Given the description of an element on the screen output the (x, y) to click on. 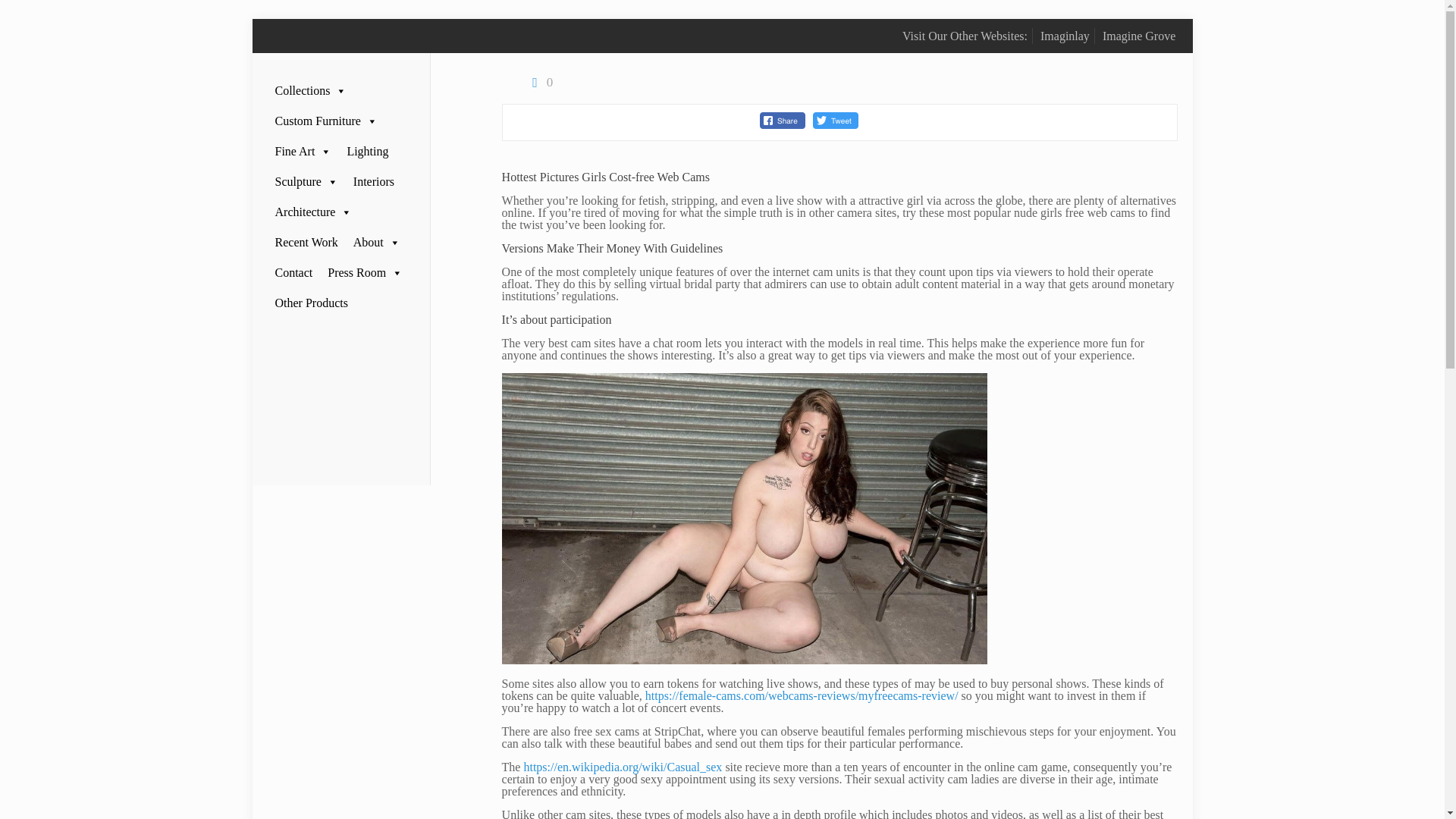
0 (539, 82)
Collections (309, 91)
Imaginlay (1065, 35)
Custom Furniture (325, 121)
Visit Our Other Websites: (964, 35)
Imagine Grove (1138, 35)
